Given the description of an element on the screen output the (x, y) to click on. 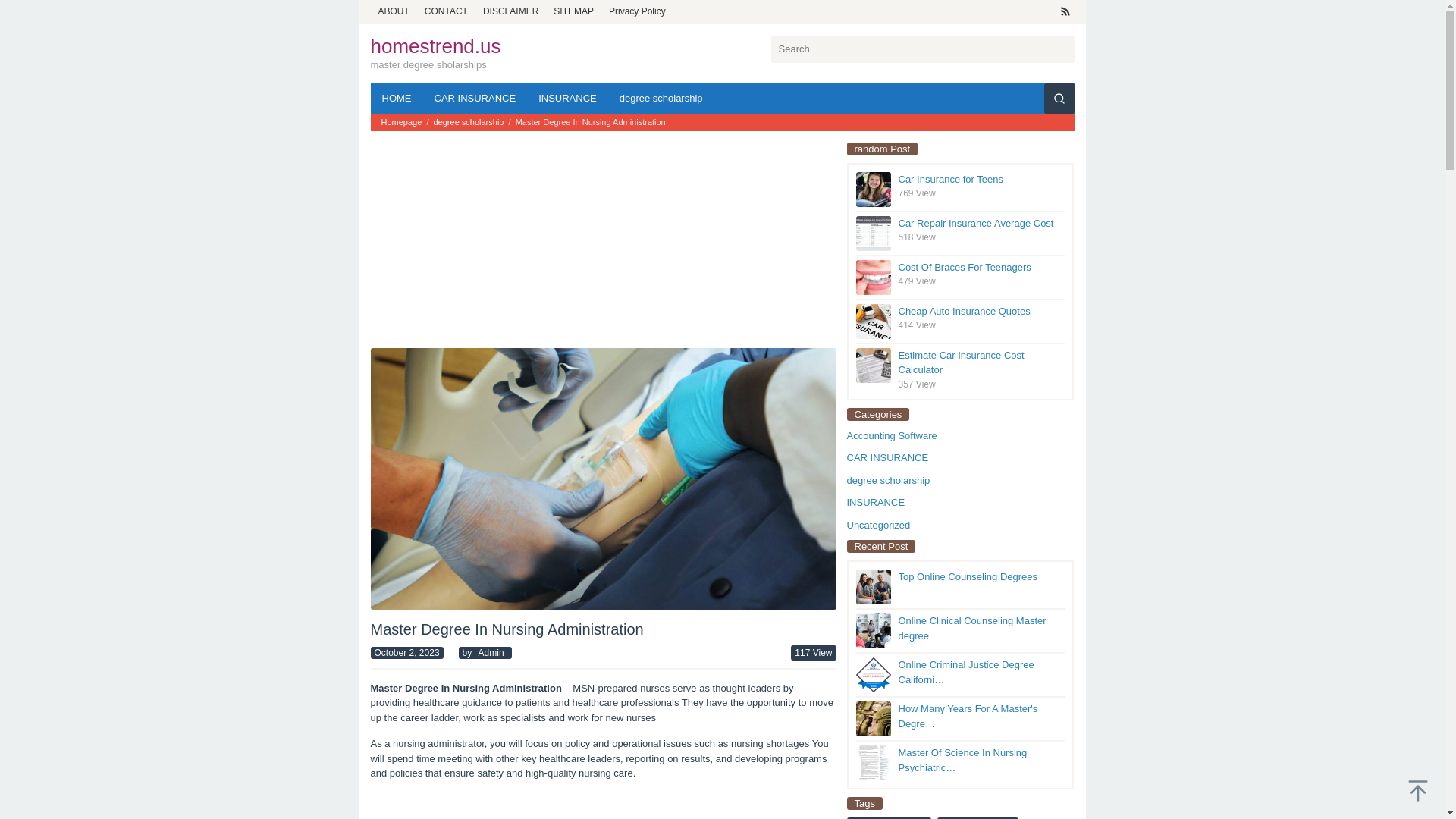
Car Insurance for Teens (950, 179)
degree scholarship (469, 121)
Homepage (401, 121)
CAR INSURANCE (475, 98)
SITEMAP (573, 11)
Cost Of Braces For Teenagers (964, 266)
Permalink to: admin (491, 653)
Car Repair Insurance Average Cost (975, 223)
Advertisement (482, 243)
